Given the description of an element on the screen output the (x, y) to click on. 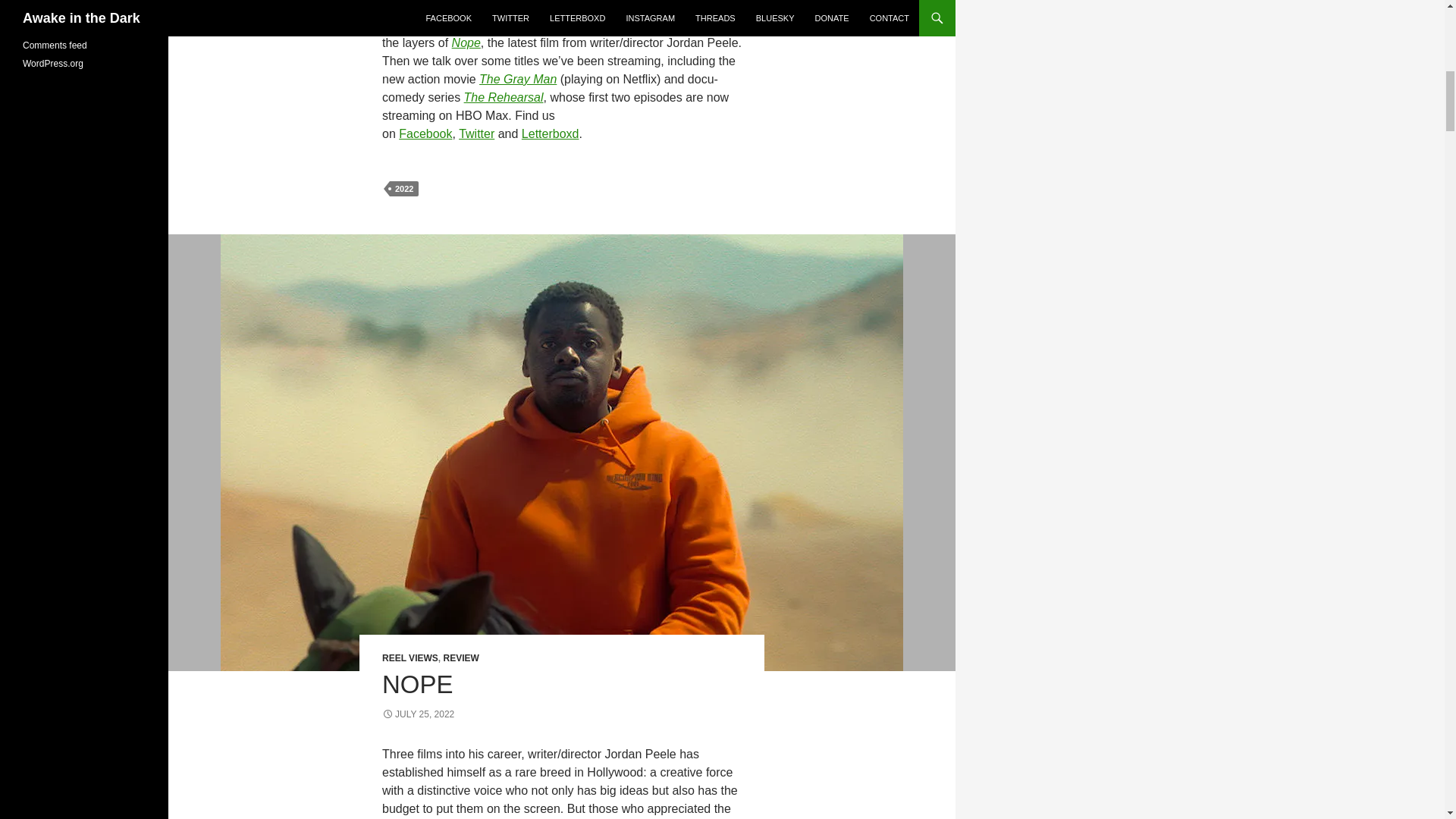
Letterboxd (550, 133)
2022 (404, 188)
The Rehearsal (503, 97)
Nope (465, 42)
NOPE (416, 684)
Facebook (424, 133)
REEL VIEWS (409, 657)
The Gray Man (517, 78)
REVIEW (460, 657)
JULY 25, 2022 (417, 714)
